Given the description of an element on the screen output the (x, y) to click on. 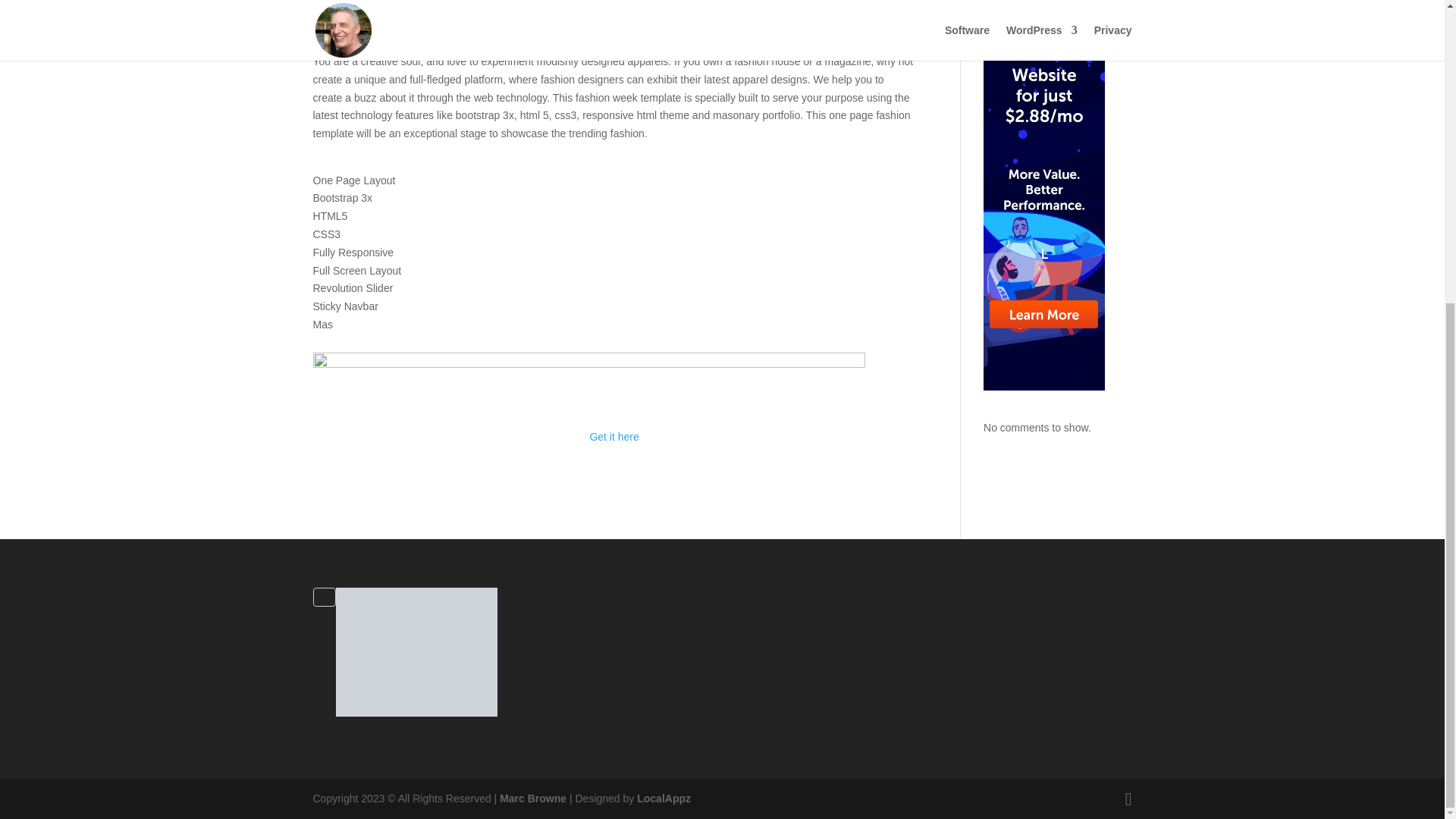
Get it here (614, 436)
Marc Browne (532, 798)
LocalAppz (663, 798)
